Given the description of an element on the screen output the (x, y) to click on. 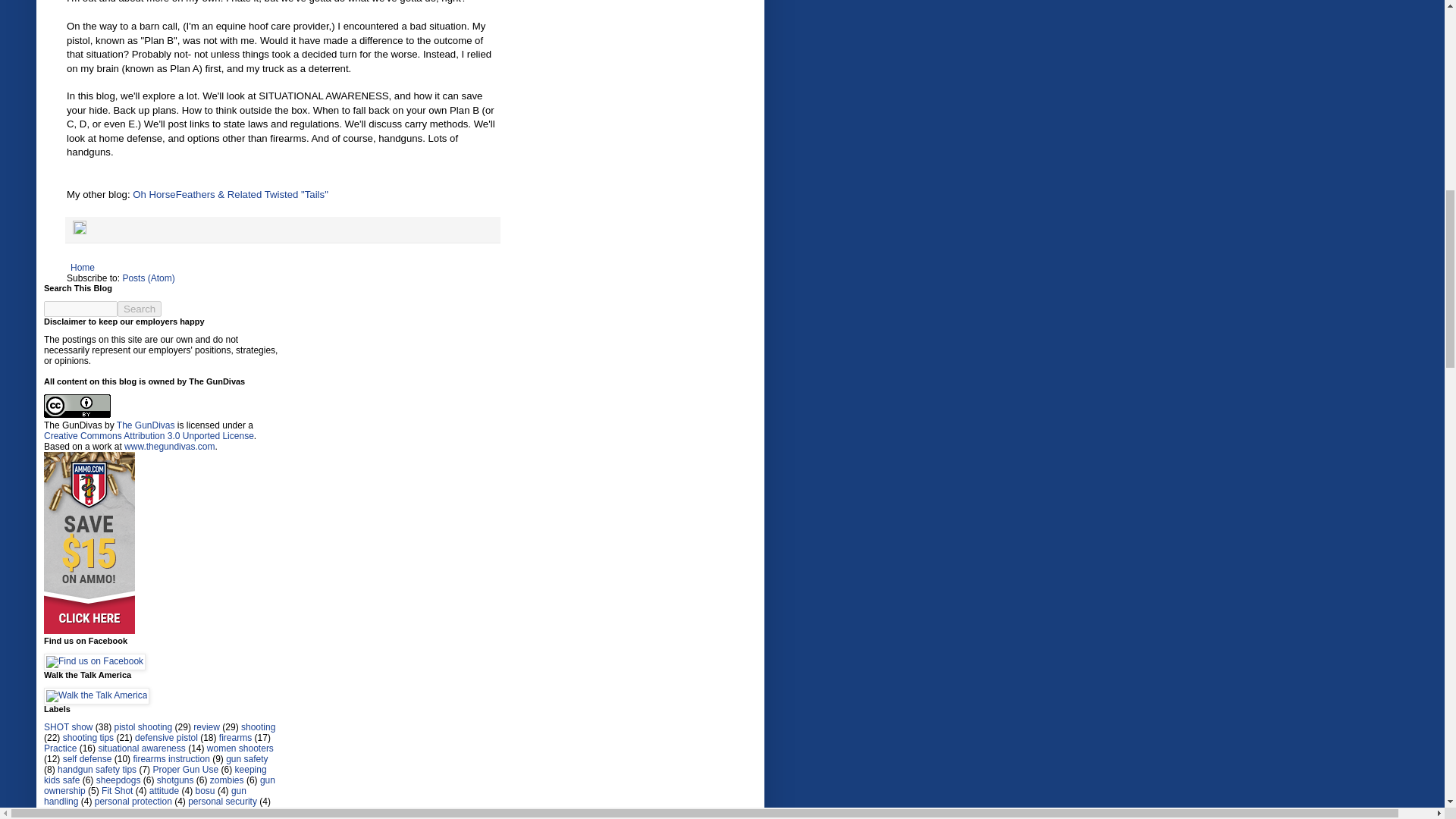
keeping kids safe (154, 774)
women shooters (239, 747)
Practice (60, 747)
search (139, 308)
shooting (258, 726)
pistol shooting (142, 726)
firearms (235, 737)
Creative Commons Attribution 3.0 Unported License (148, 435)
gun safety (246, 758)
shotguns (175, 779)
firearms instruction (170, 758)
Home (82, 267)
SHOT show (68, 726)
defensive pistol (166, 737)
www.thegundivas.com (168, 446)
